Given the description of an element on the screen output the (x, y) to click on. 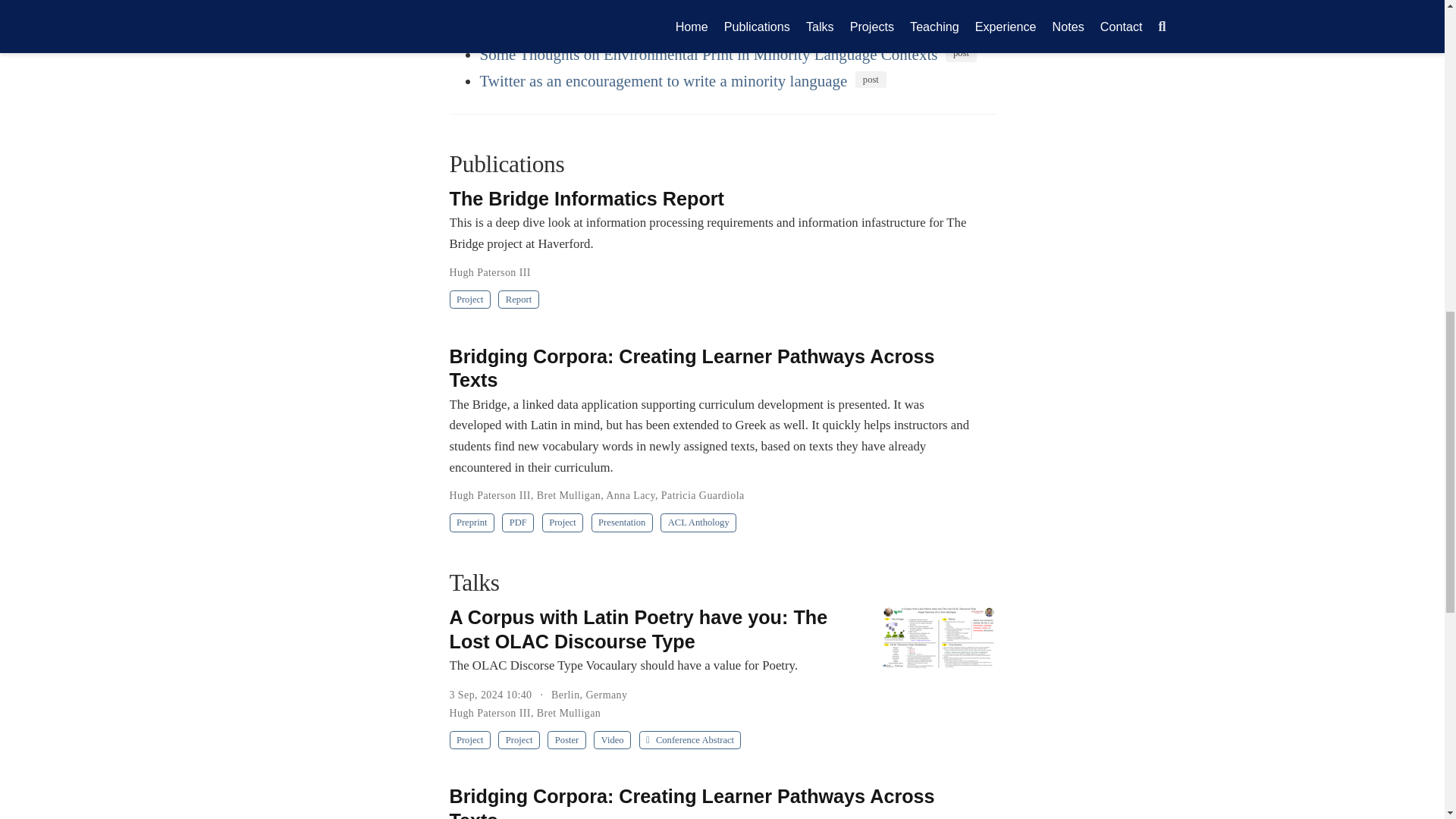
The Bridge Informatics Report (585, 198)
Twitter as an encouragement to write a minority language (663, 81)
Hugh Paterson III (488, 272)
LexR: a Preliminary Readability Metric for Latin (636, 28)
Bridging Corpora: Creating Learner Pathways Across Texts (669, 5)
